Given the description of an element on the screen output the (x, y) to click on. 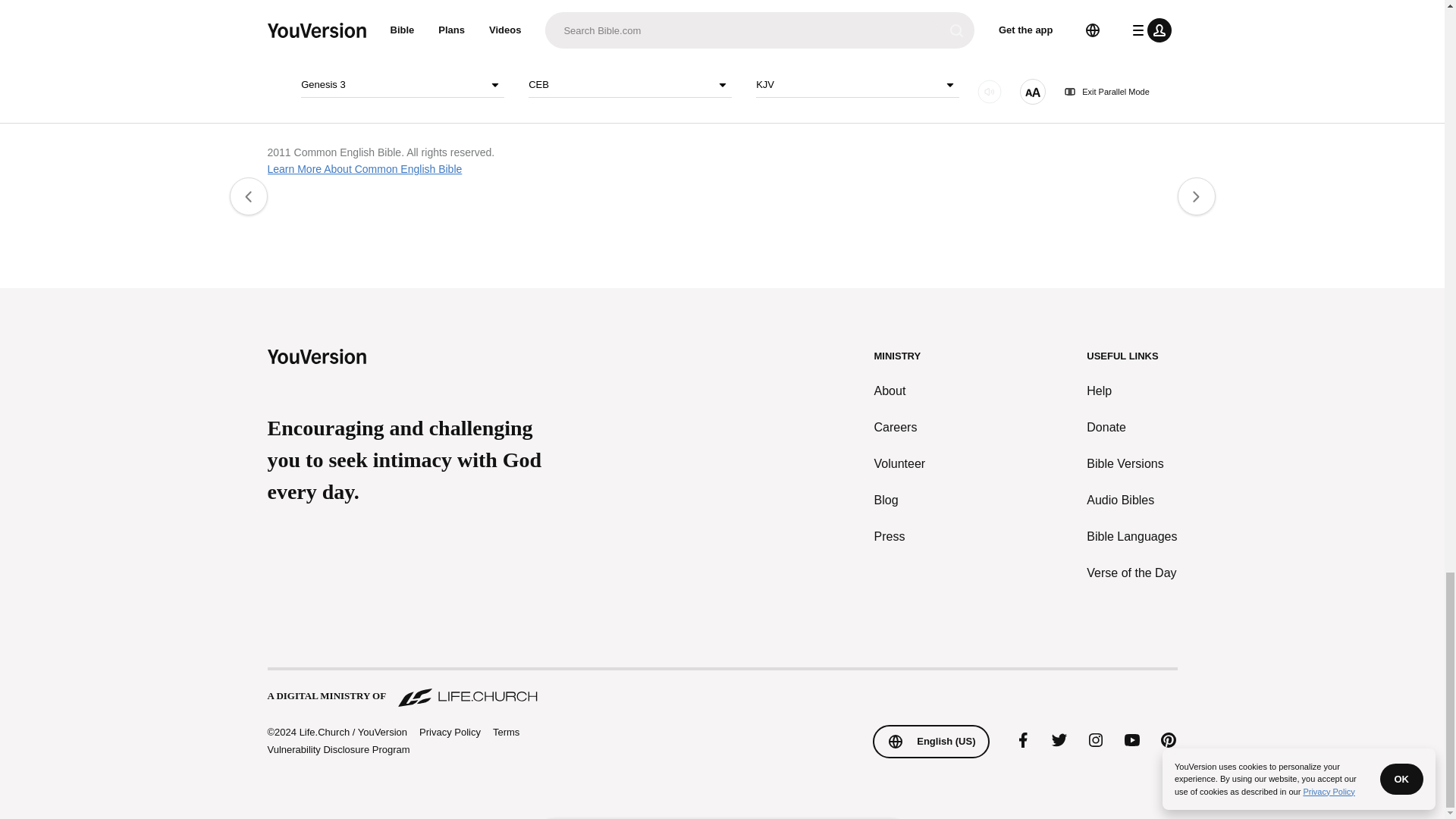
Bible Versions (1131, 464)
Help (1131, 391)
Terms (506, 731)
Blog (900, 500)
Learn More About Common English Bible (363, 168)
Audio Bibles (1131, 500)
Donate (1131, 427)
Bible Languages (1131, 536)
Careers (900, 427)
Volunteer (900, 464)
